Given the description of an element on the screen output the (x, y) to click on. 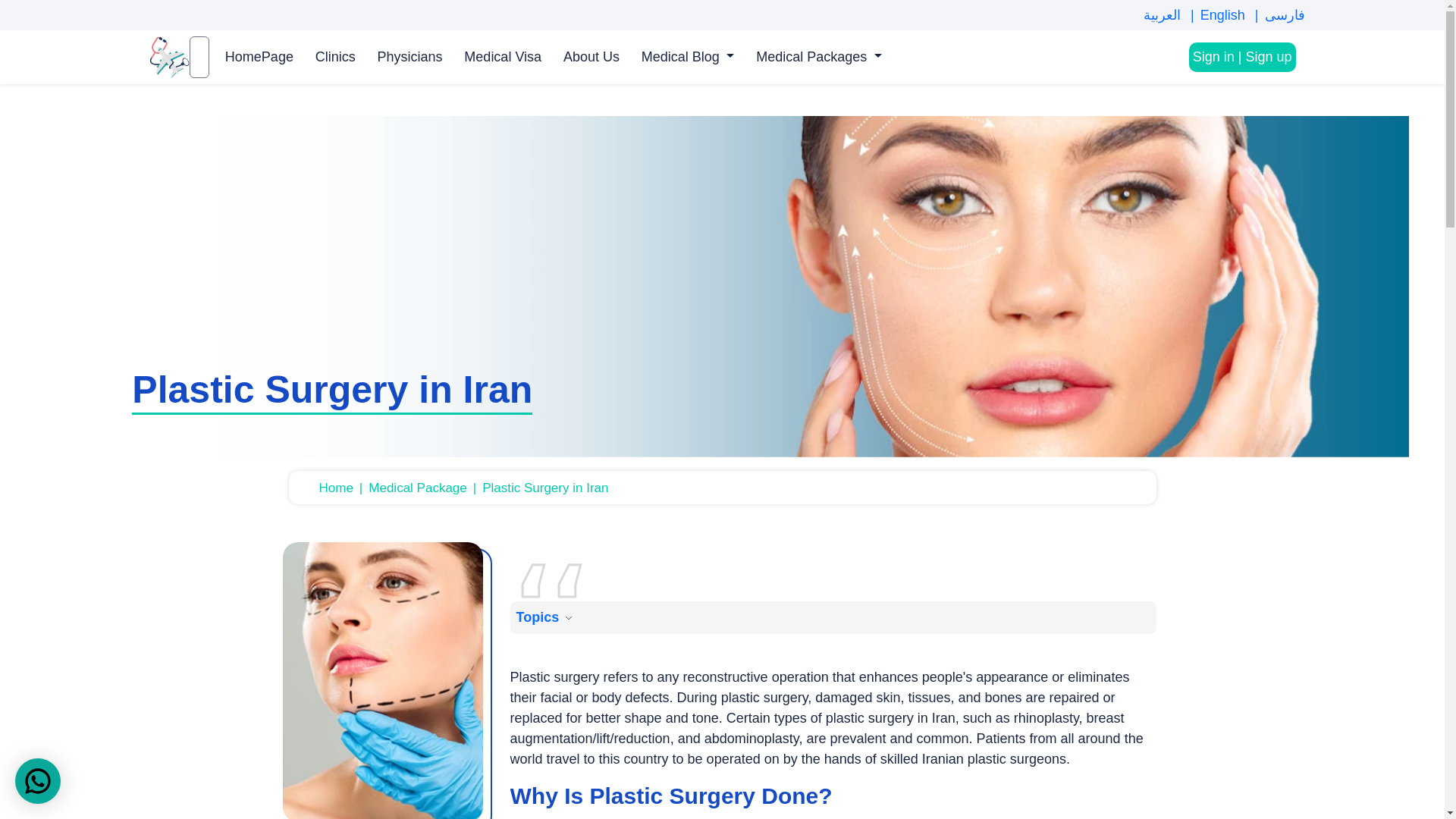
Physicians (409, 56)
HomePage (259, 56)
About Us (591, 56)
Clinics (334, 56)
Medical Packages (818, 56)
Sign in (1213, 56)
Plastic Surgery in Iran (544, 487)
Topics (546, 616)
Medical Visa (502, 56)
English (1232, 14)
Sign up (1267, 56)
Home (343, 487)
Medical Blog (687, 56)
Medical Package (424, 487)
